Given the description of an element on the screen output the (x, y) to click on. 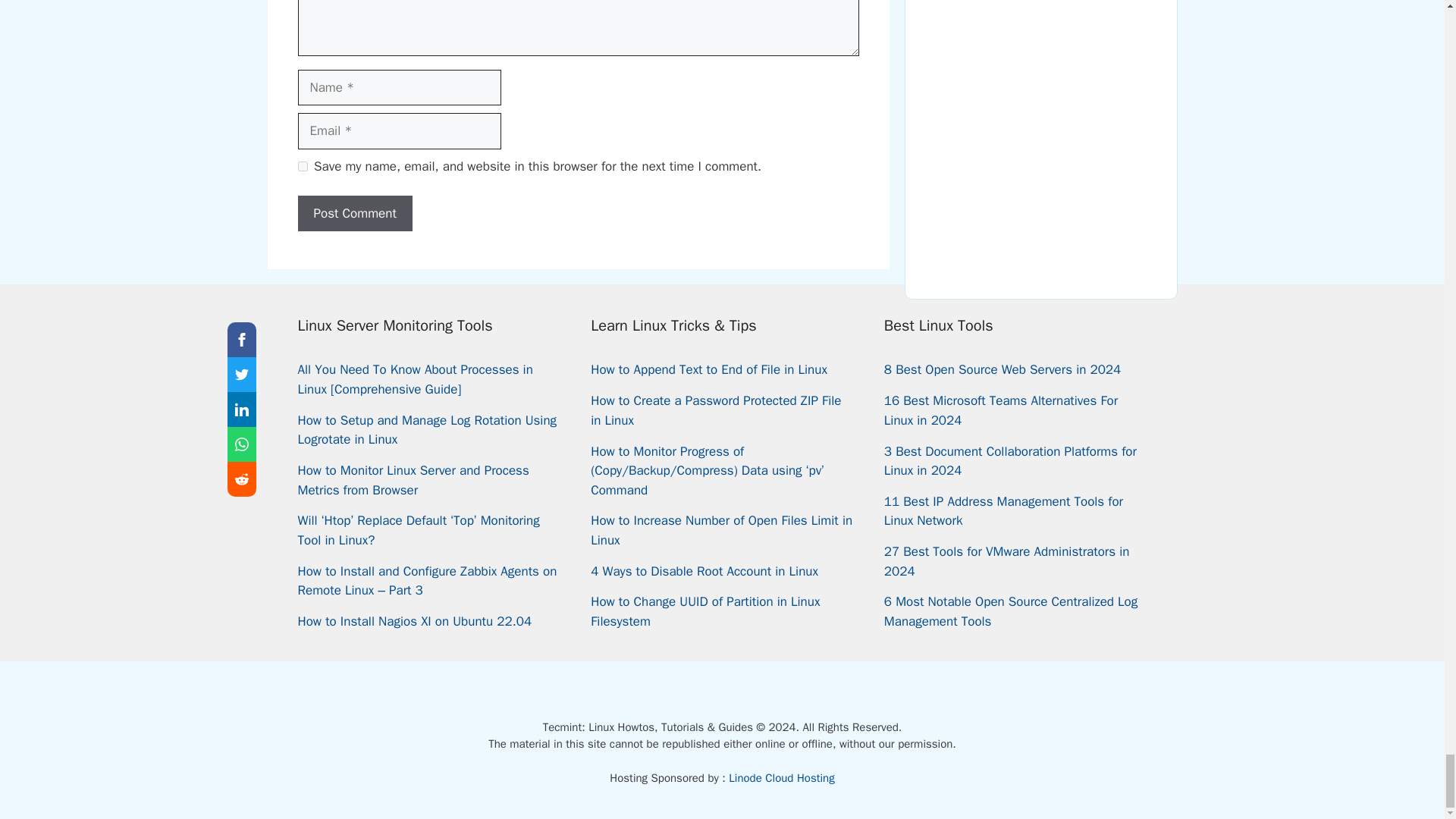
Post Comment (354, 213)
yes (302, 166)
